Given the description of an element on the screen output the (x, y) to click on. 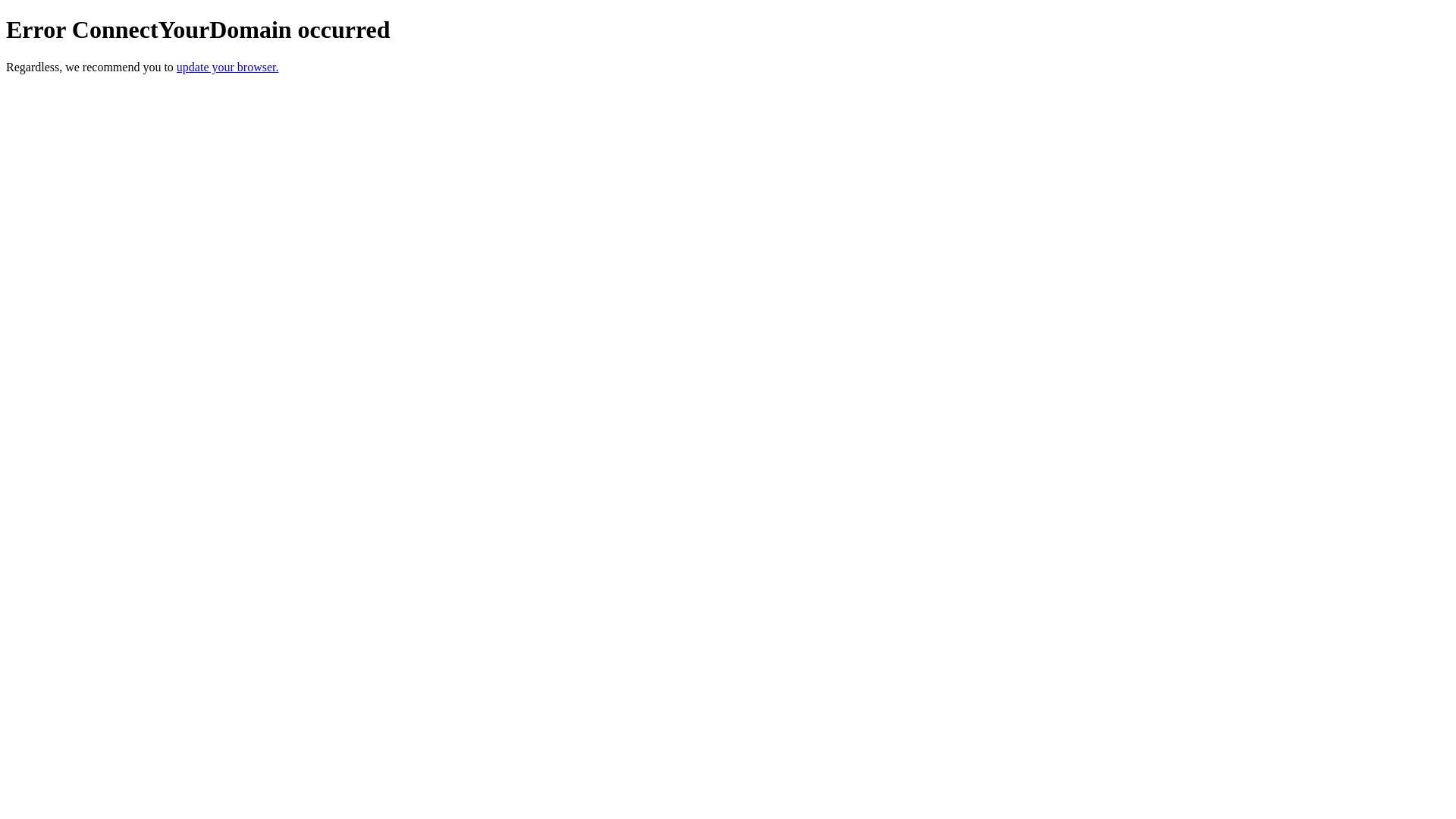
update your browser. Element type: text (227, 66)
